Given the description of an element on the screen output the (x, y) to click on. 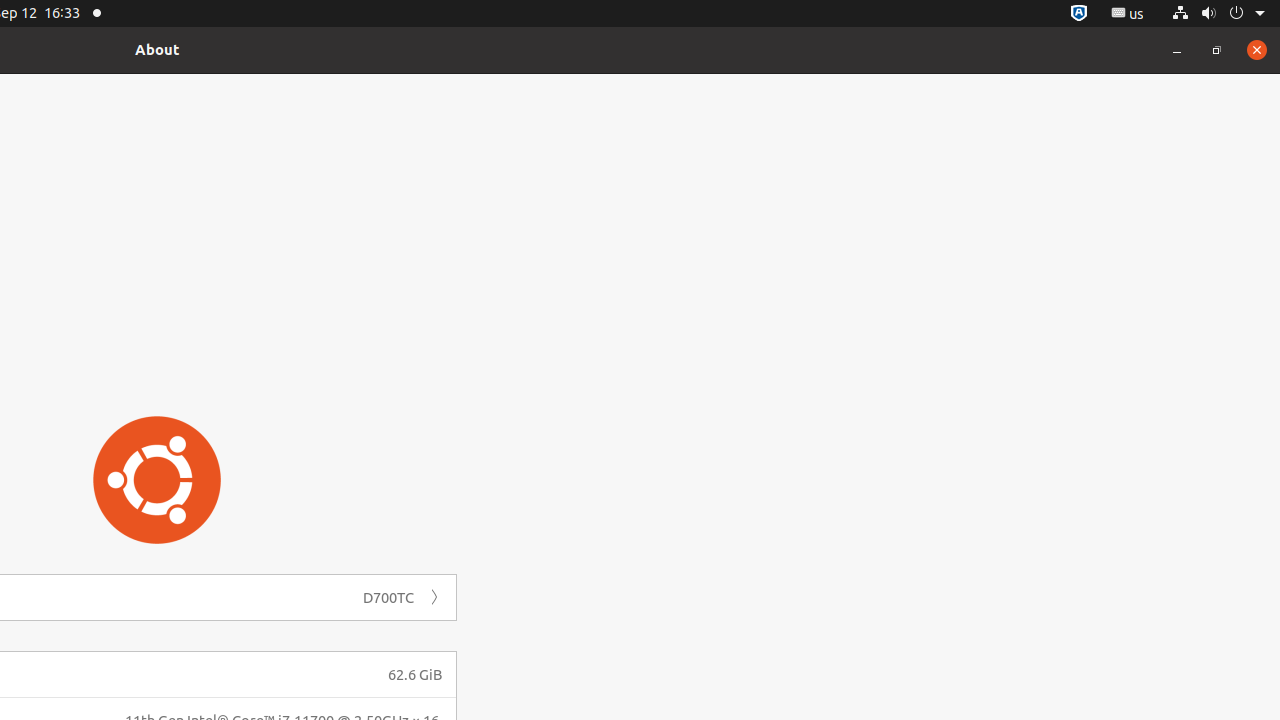
Minimize Element type: push-button (1177, 50)
62.6 GiB Element type: label (415, 674)
Restore Element type: push-button (1217, 50)
